Given the description of an element on the screen output the (x, y) to click on. 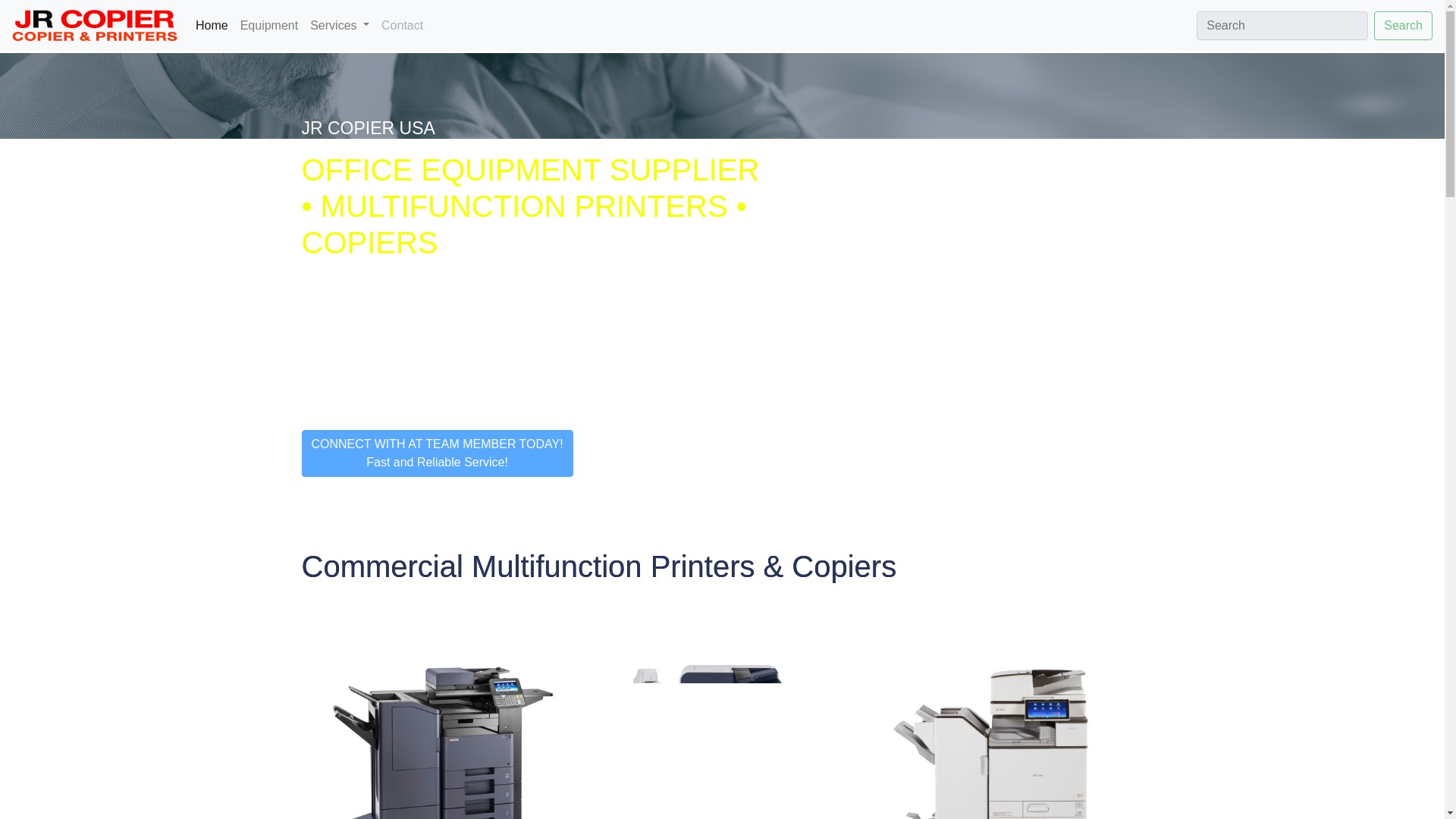
Services (339, 25)
Search (1403, 24)
Contact (402, 25)
Equipment (269, 25)
